Given the description of an element on the screen output the (x, y) to click on. 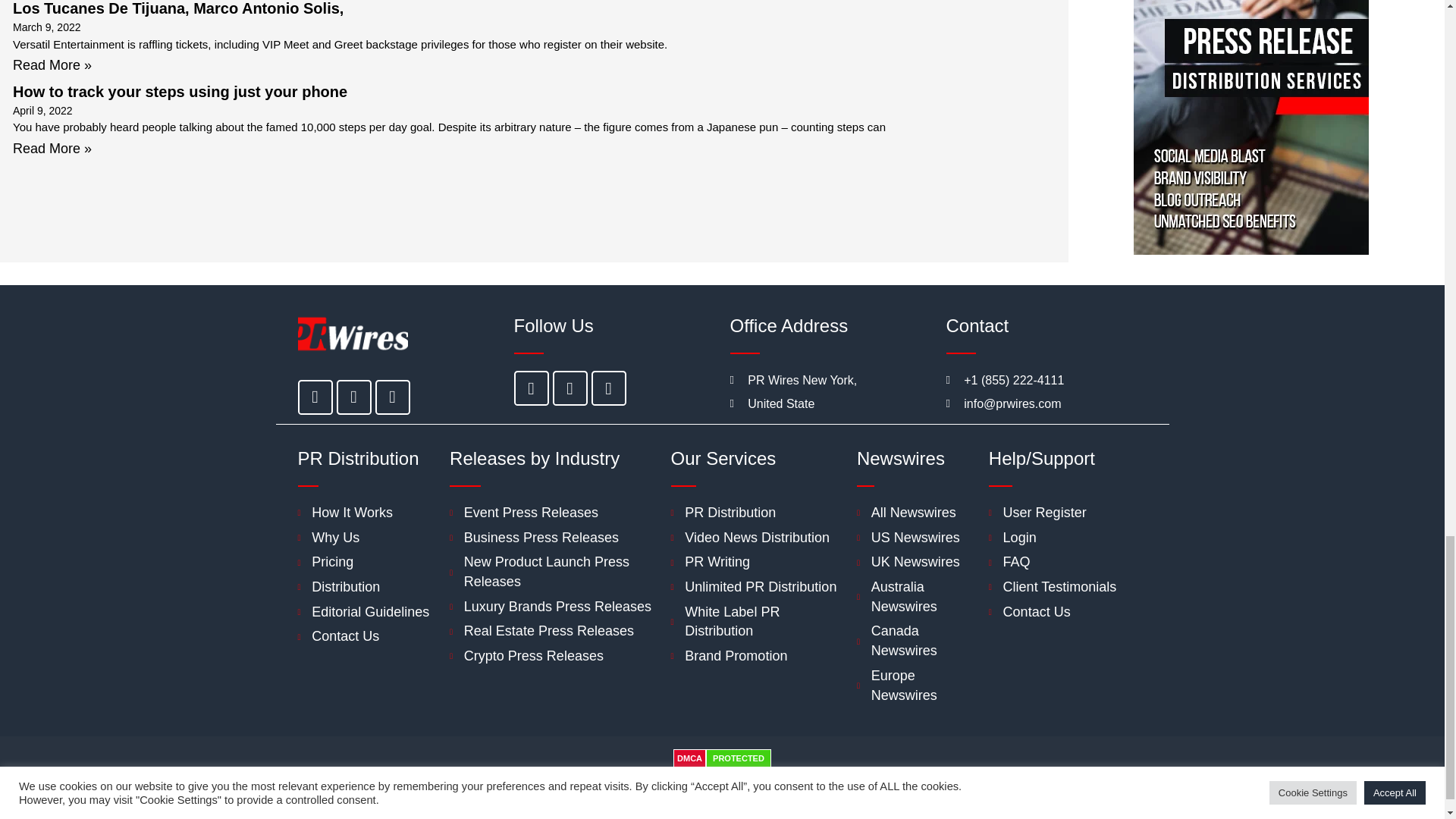
DMCA (689, 758)
PROTECTED (738, 758)
